Given the description of an element on the screen output the (x, y) to click on. 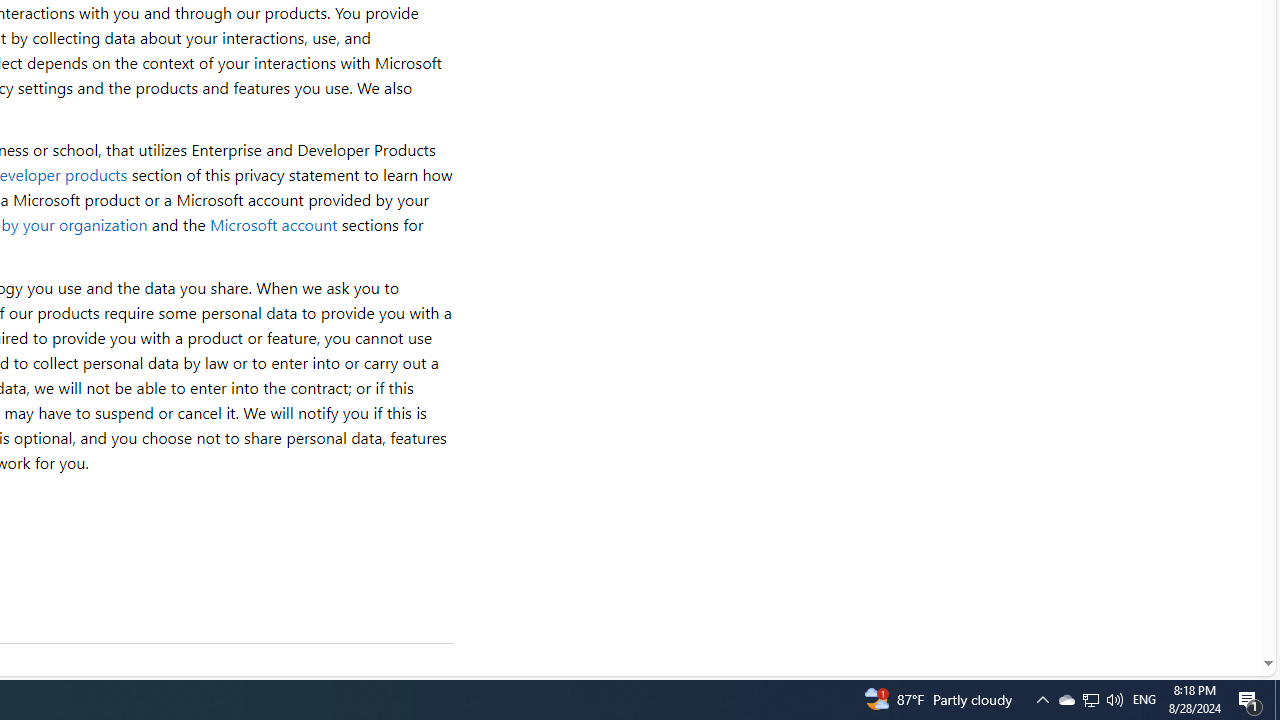
Microsoft account (273, 224)
